Given the description of an element on the screen output the (x, y) to click on. 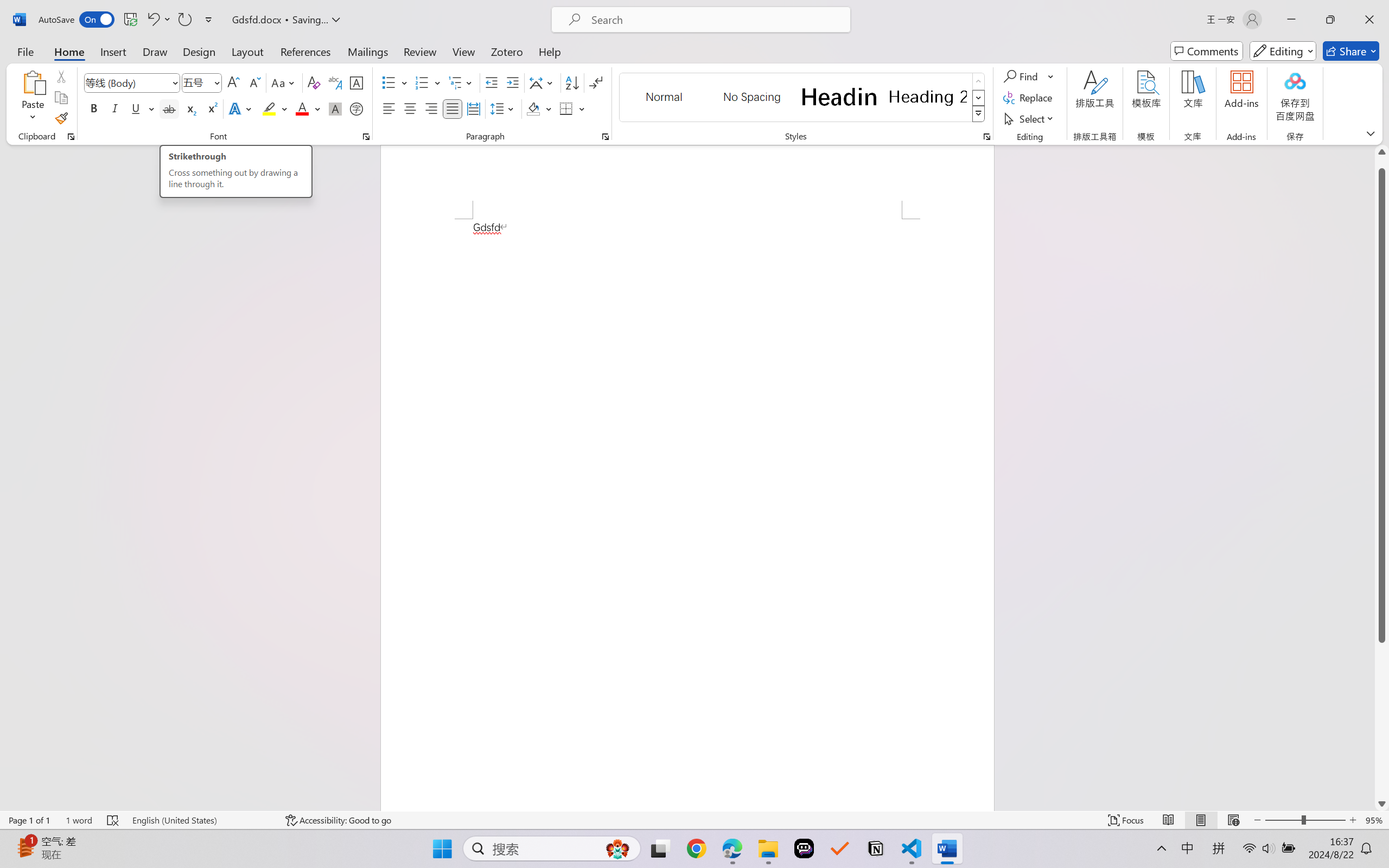
Change Case (284, 82)
Shading RGB(0, 0, 0) (533, 108)
Styles (978, 113)
Character Border (356, 82)
Font... (365, 136)
Decrease Indent (491, 82)
